Given the description of an element on the screen output the (x, y) to click on. 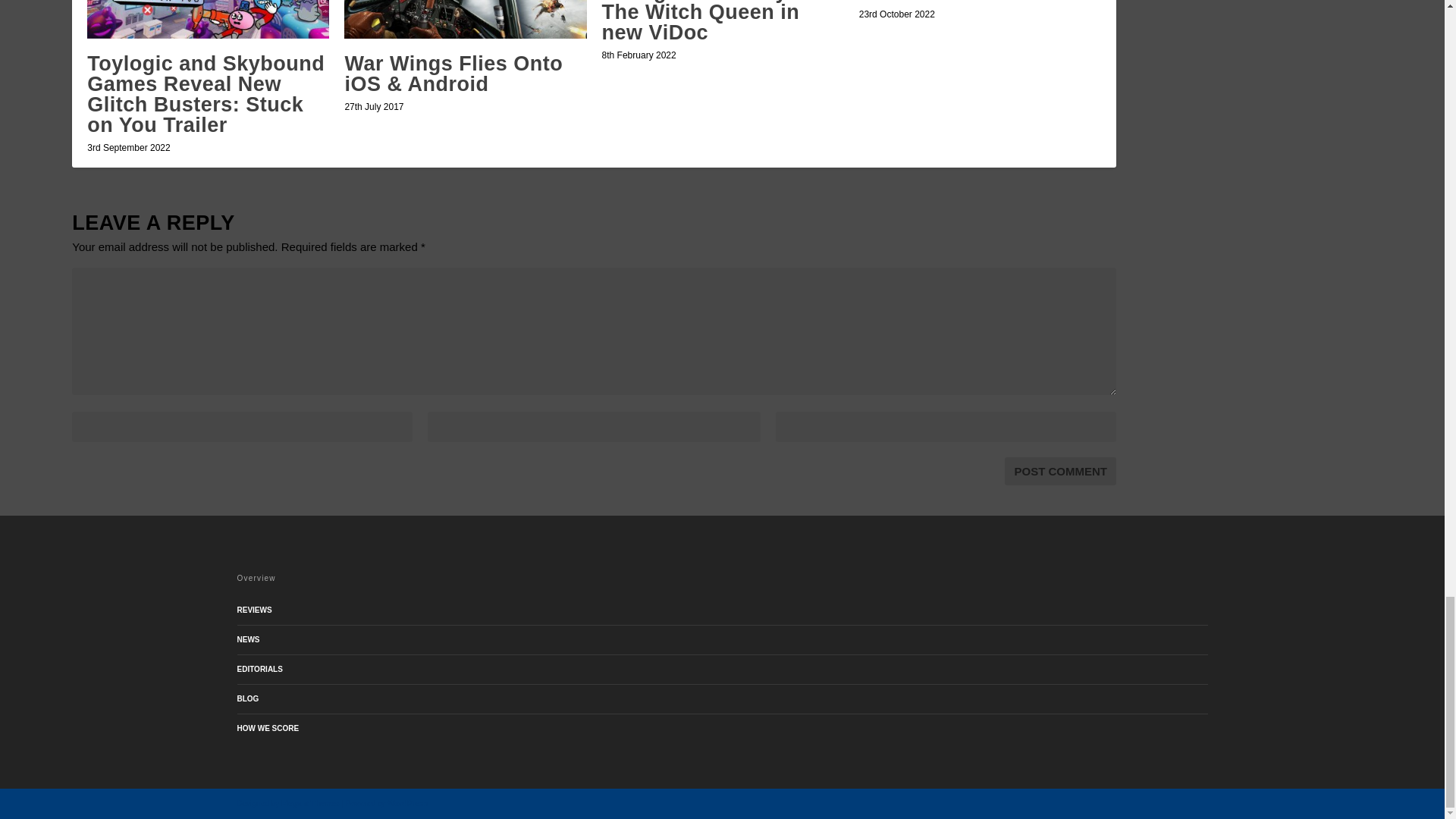
Post Comment (1060, 471)
